Given the description of an element on the screen output the (x, y) to click on. 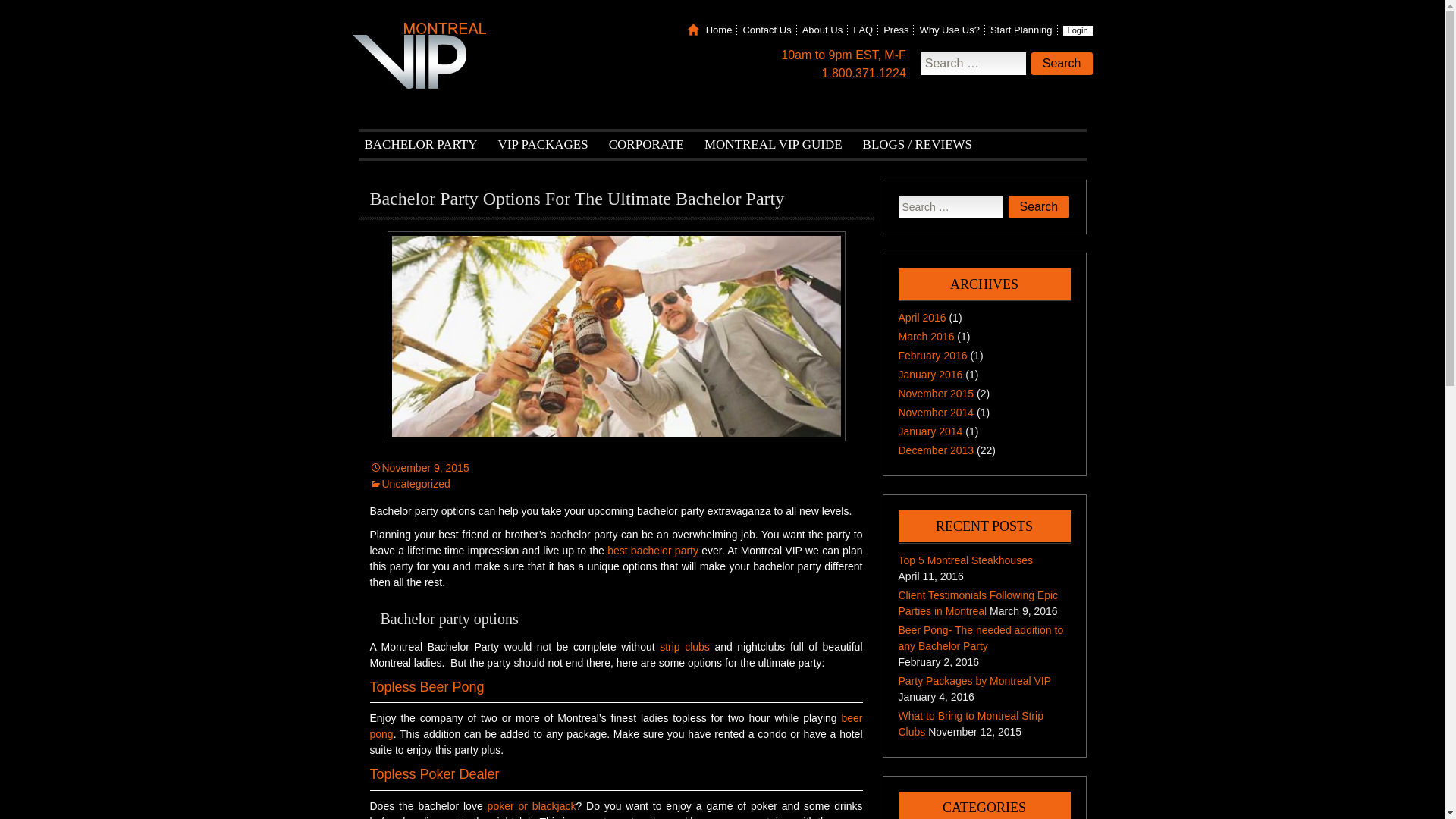
About Us (822, 30)
Why Use Us? (948, 30)
BACHELOR PARTY (420, 144)
Contact Us (766, 30)
Search (1061, 63)
Search (1061, 63)
VIP PACKAGES (543, 144)
Press (895, 30)
Login (1077, 30)
Home (719, 30)
Montreal VIP Bachelor Party (418, 54)
Start Planning (1021, 30)
Search (1061, 63)
FAQ (862, 30)
